Given the description of an element on the screen output the (x, y) to click on. 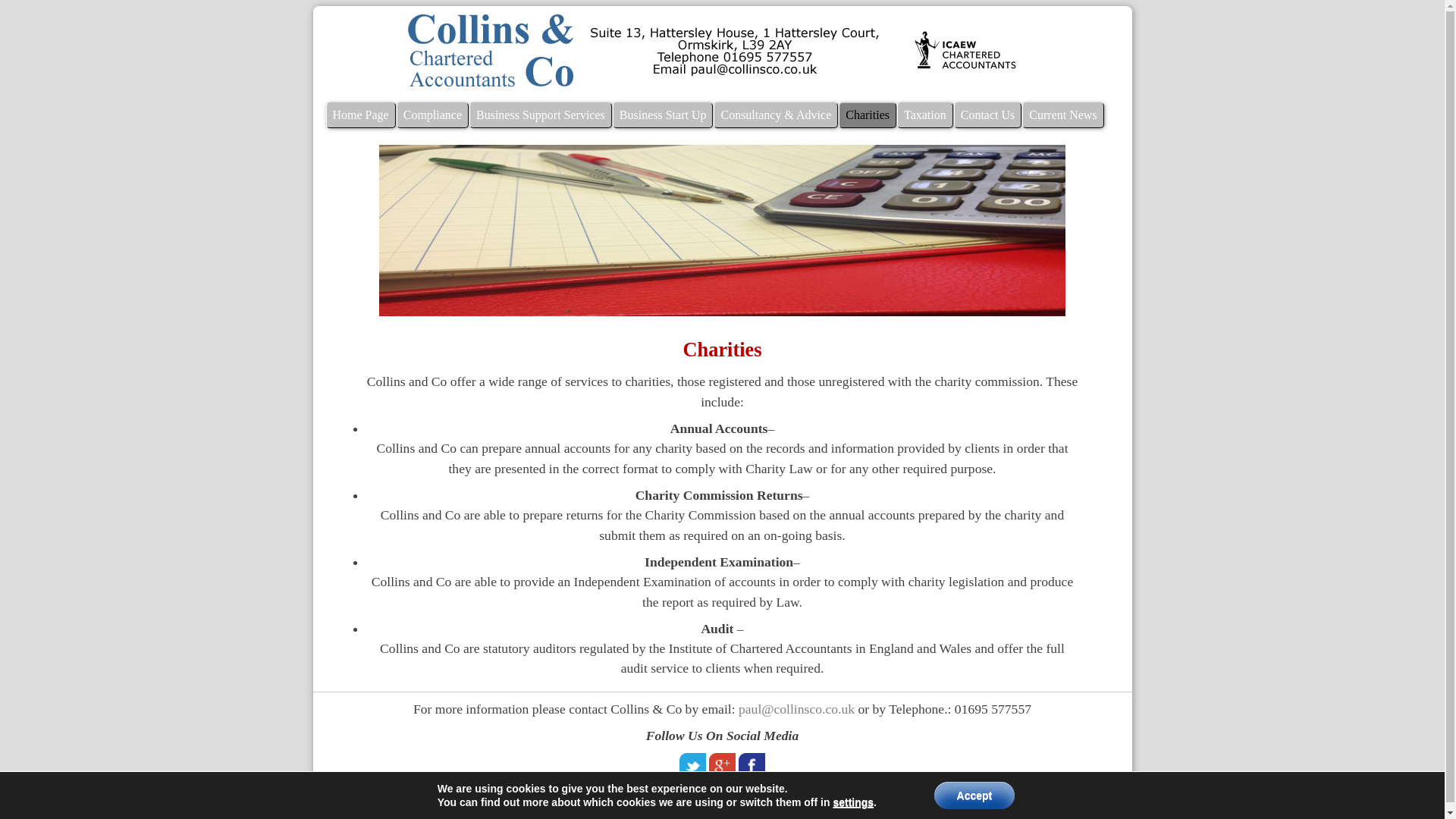
Business Start Up (662, 114)
Business Support Services (539, 114)
Contact Us (987, 114)
Powered by WordPress (620, 801)
Twitter (692, 765)
Taxation (924, 114)
Facebook (751, 765)
settings (852, 802)
Accept (974, 795)
Compliance (432, 114)
Home Page (361, 114)
Current News (1062, 114)
Charities (867, 114)
CTWebdesign (842, 801)
